Given the description of an element on the screen output the (x, y) to click on. 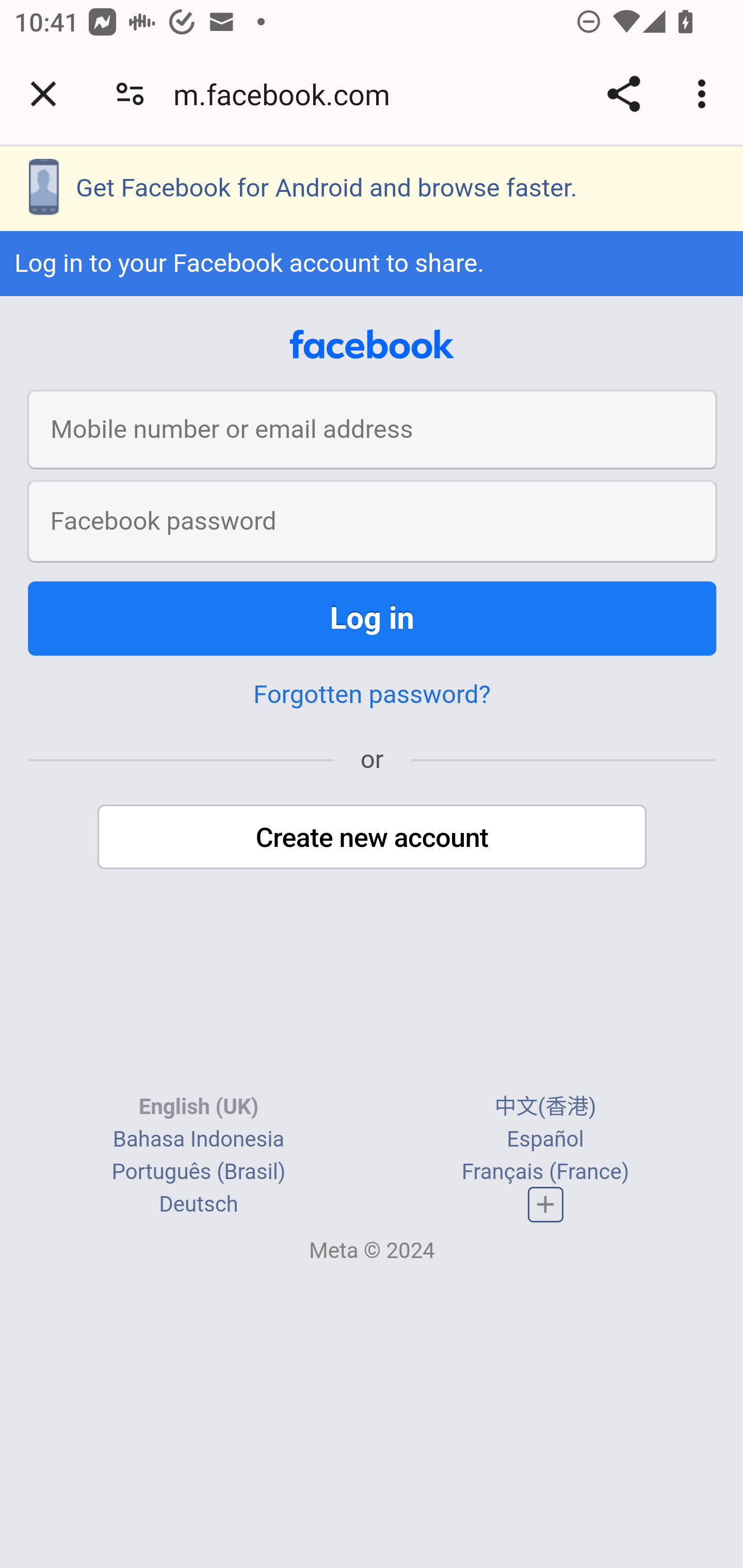
Close tab (43, 93)
Share (623, 93)
Customize and control Google Chrome (705, 93)
Connection is secure (129, 93)
m.facebook.com (288, 93)
Get Facebook for Android and browse faster. (371, 188)
facebook (372, 344)
Log in (372, 618)
Forgotten password? (371, 693)
Create new account (372, 836)
中文(香港) (544, 1107)
Bahasa Indonesia (198, 1139)
Español (545, 1139)
Português (Brasil) (197, 1171)
Français (France) (544, 1171)
Complete list of languages (545, 1204)
Deutsch (198, 1204)
